Given the description of an element on the screen output the (x, y) to click on. 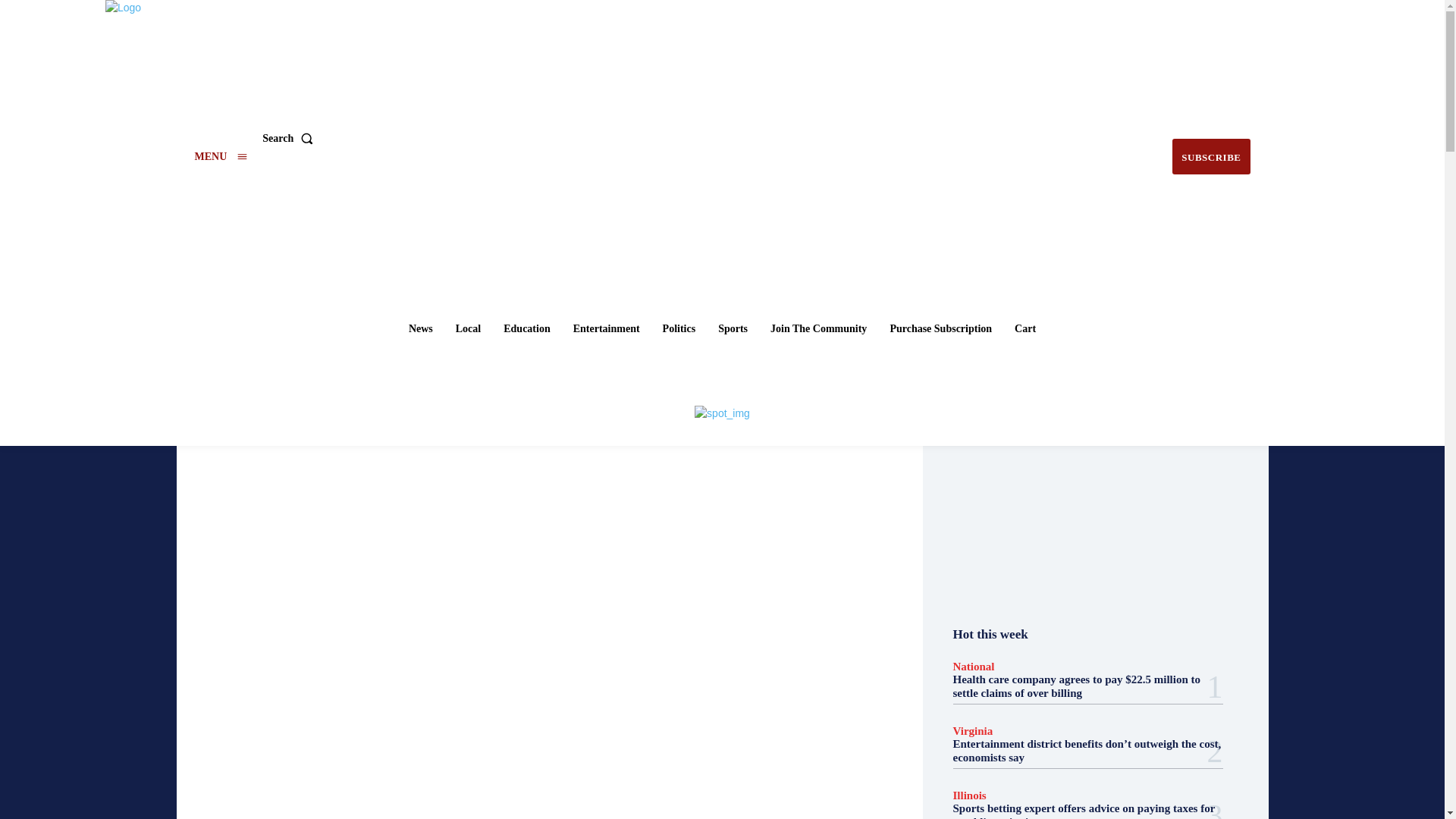
Subscribe (1210, 156)
Menu (220, 155)
The Black Chronicle (724, 136)
